Given the description of an element on the screen output the (x, y) to click on. 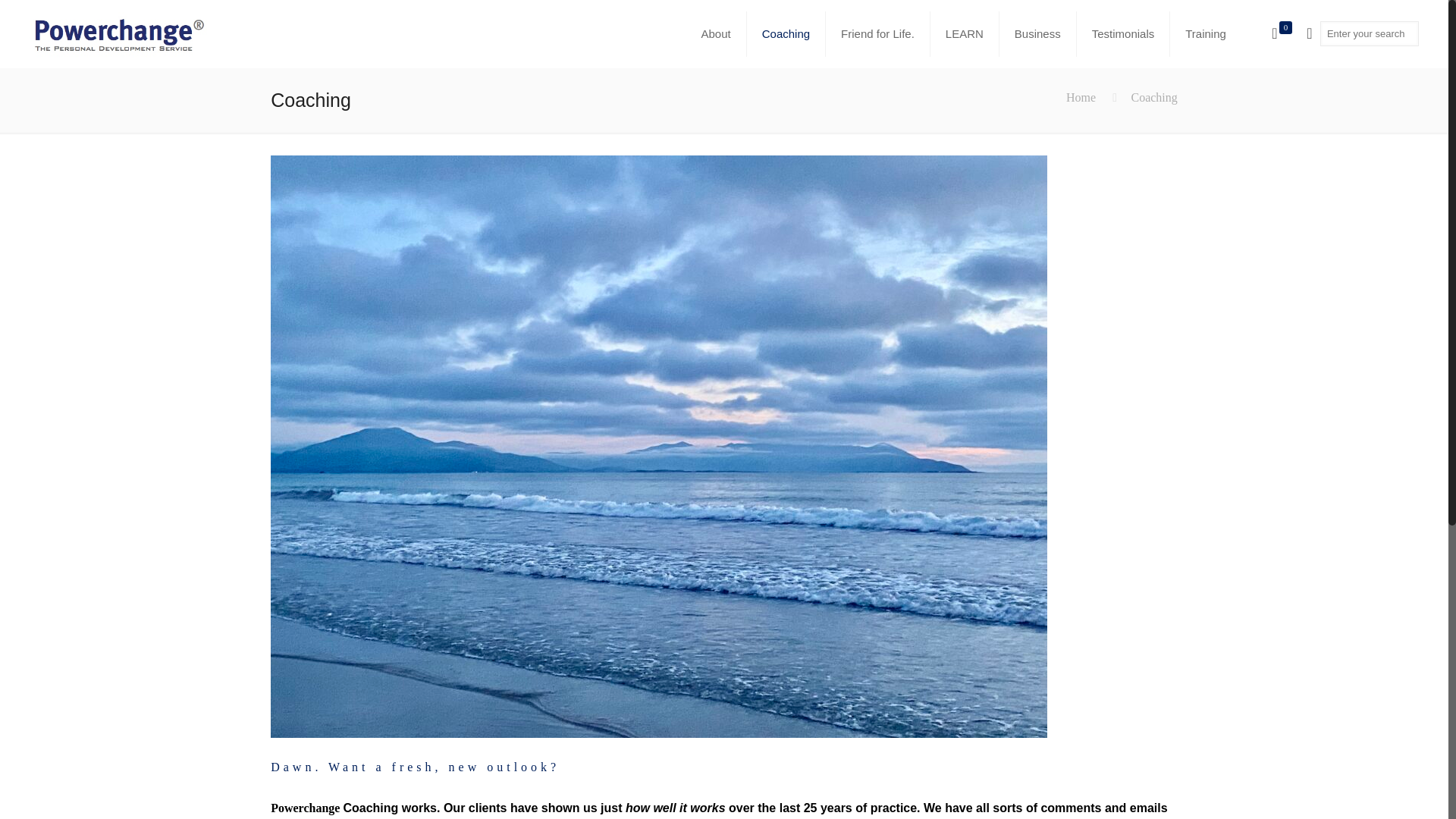
LEARN (964, 33)
Powerchange (117, 33)
Friend for Life. (877, 33)
About (715, 33)
Coaching (785, 33)
